Given the description of an element on the screen output the (x, y) to click on. 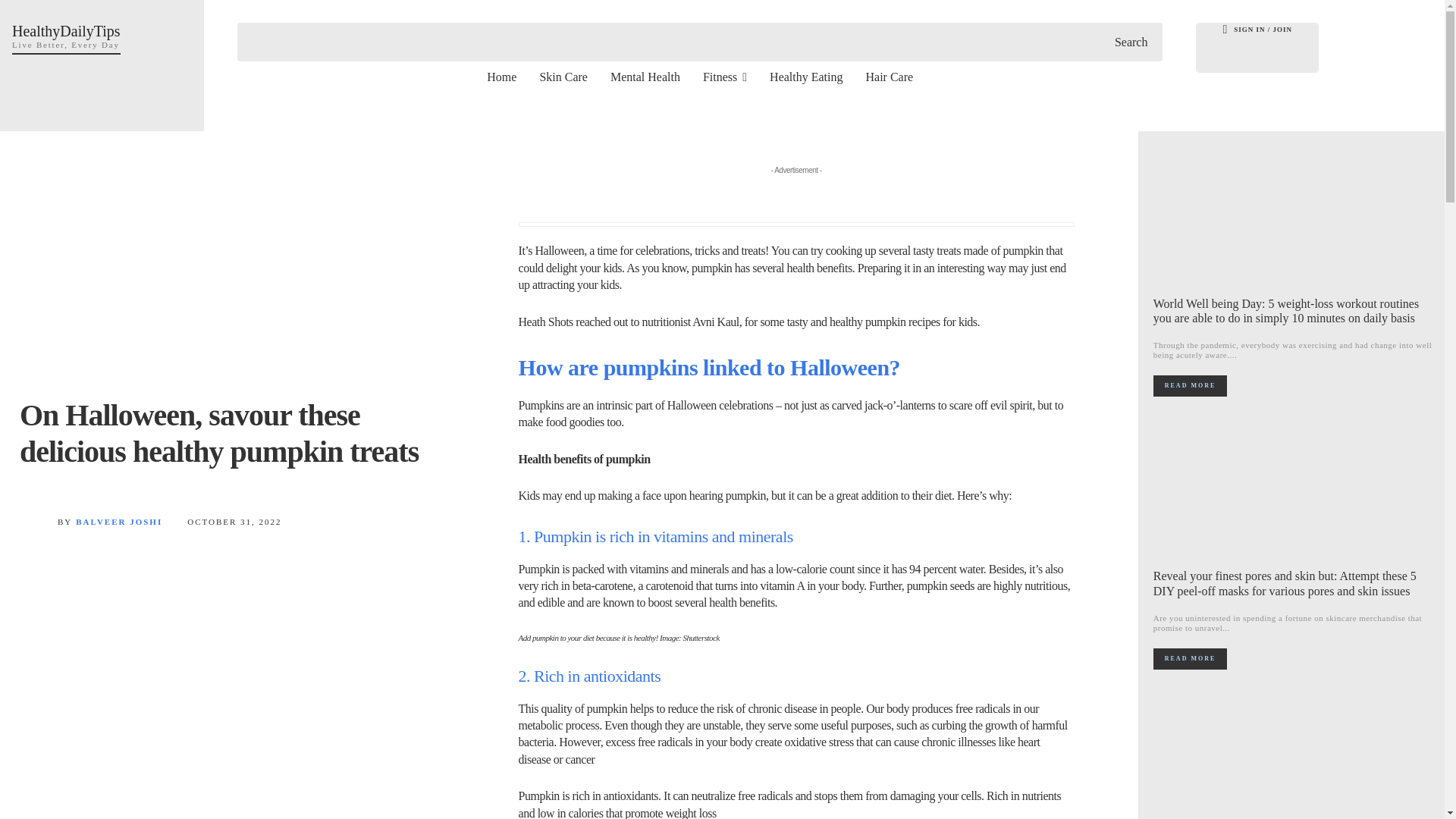
Home (501, 75)
READ MORE (1190, 385)
READ MORE (65, 35)
BALVEER JOSHI (1190, 658)
Mental Health (118, 521)
Search (644, 75)
